Given the description of an element on the screen output the (x, y) to click on. 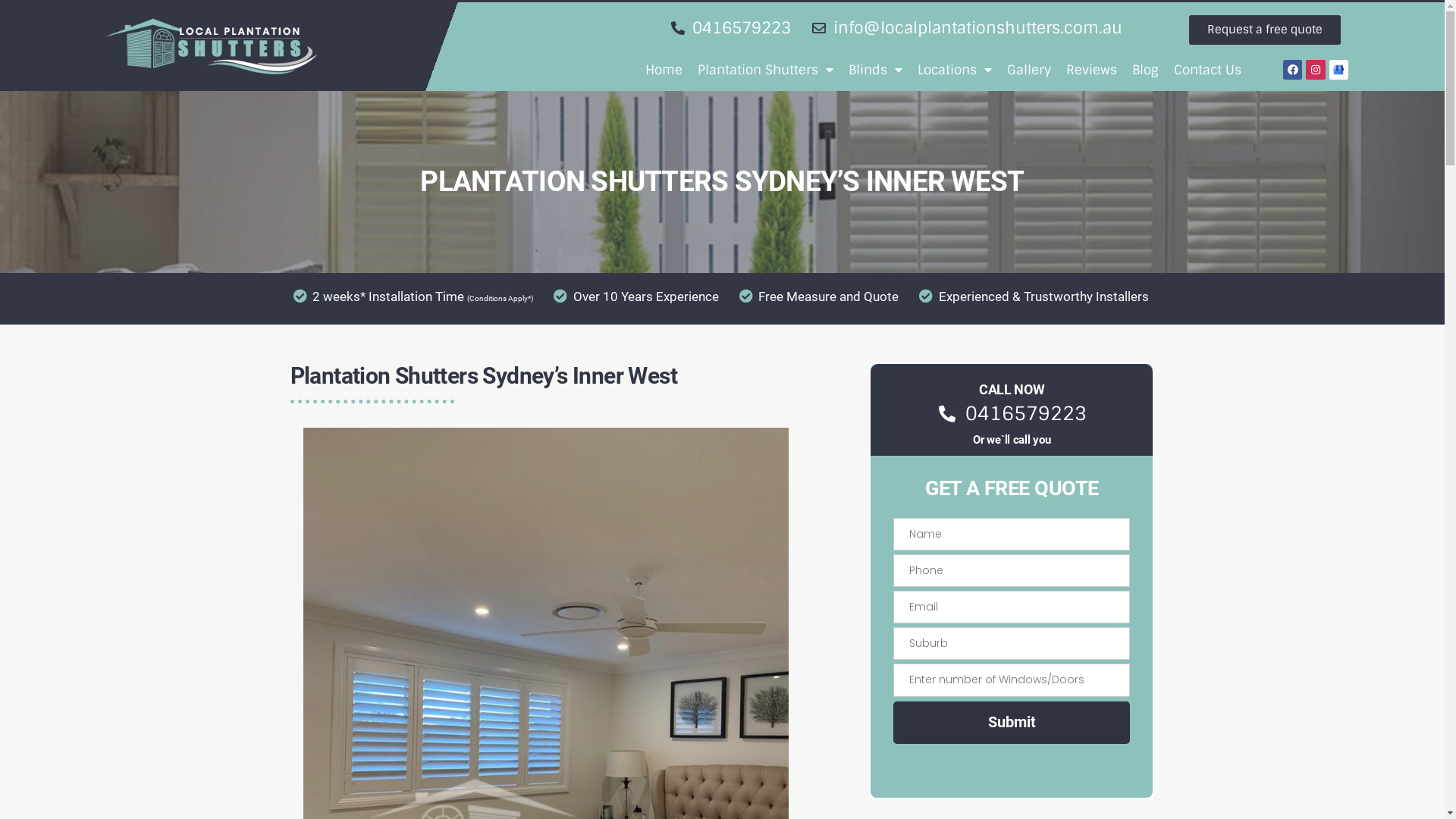
Gallery Element type: text (1028, 69)
Reviews Element type: text (1091, 69)
Submit Element type: text (1011, 722)
0416579223 Element type: text (1012, 413)
Home Element type: text (663, 69)
Contact Us Element type: text (1207, 69)
Blinds Element type: text (875, 69)
Plantation Shutters Element type: text (765, 69)
Blog Element type: text (1145, 69)
0416579223 Element type: text (729, 27)
info@localplantationshutters.com.au Element type: text (965, 27)
Request a free quote Element type: text (1264, 29)
Locations Element type: text (954, 69)
